Given the description of an element on the screen output the (x, y) to click on. 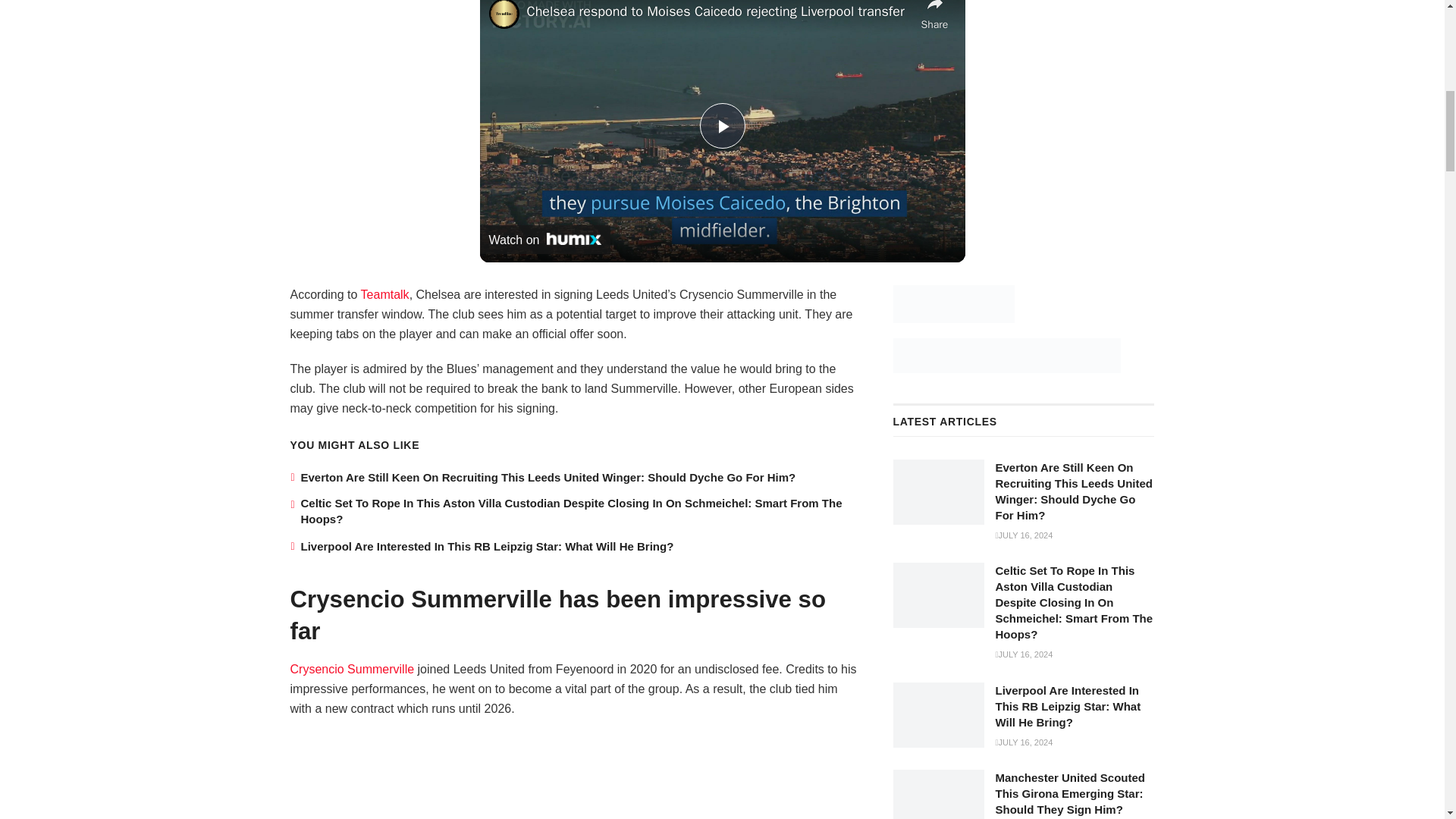
Play Video (721, 125)
